Given the description of an element on the screen output the (x, y) to click on. 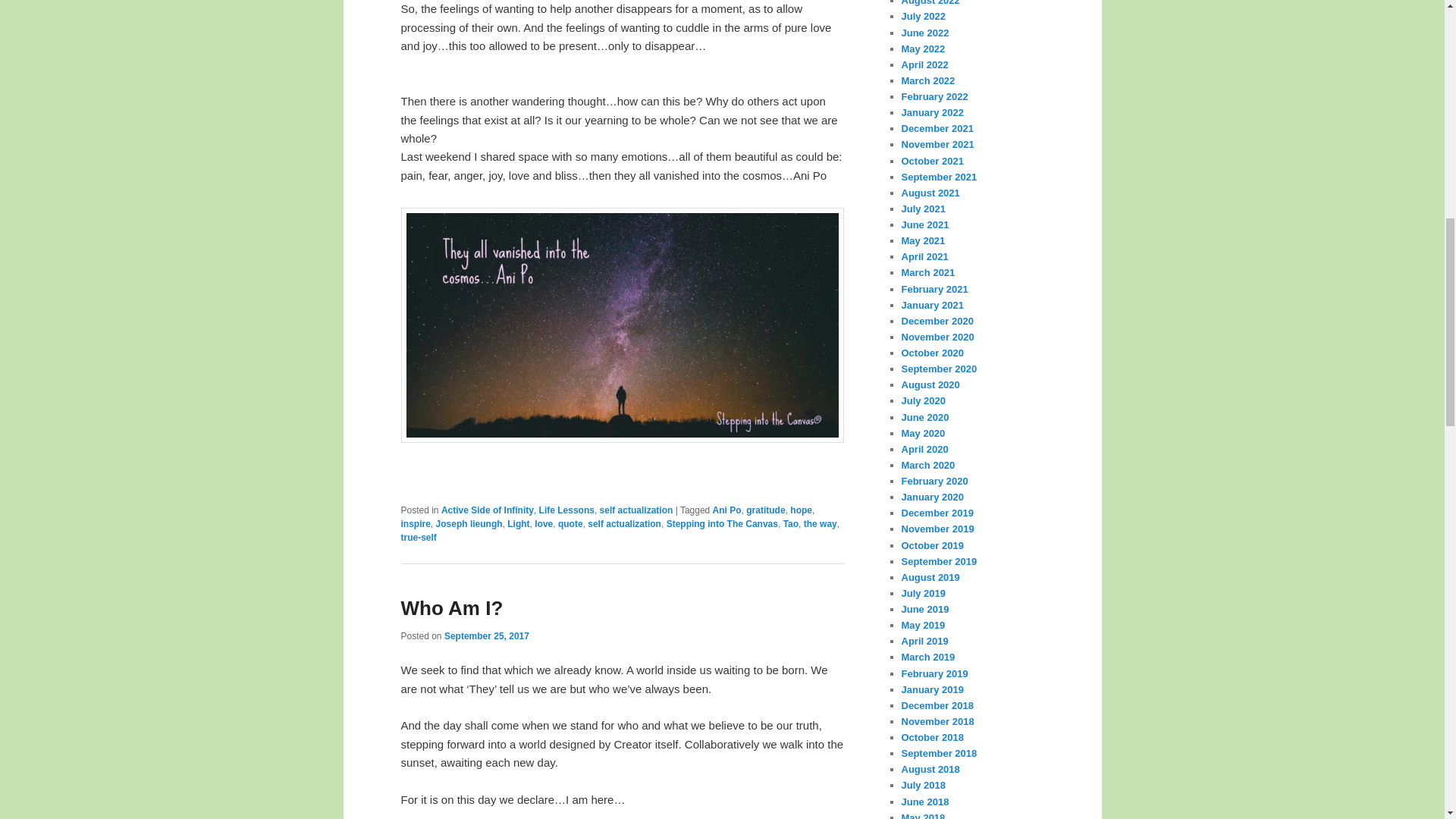
Stepping into The Canvas (721, 523)
true-self (417, 537)
September 25, 2017 (486, 635)
Light (517, 523)
Active Side of Infinity (487, 510)
Scroll back to top (510, 27)
inspire (414, 523)
Tao (790, 523)
self actualization (624, 523)
Ani Po (727, 510)
quote (570, 523)
Who Am I? (451, 608)
gratitude (764, 510)
hope (801, 510)
the way (820, 523)
